Given the description of an element on the screen output the (x, y) to click on. 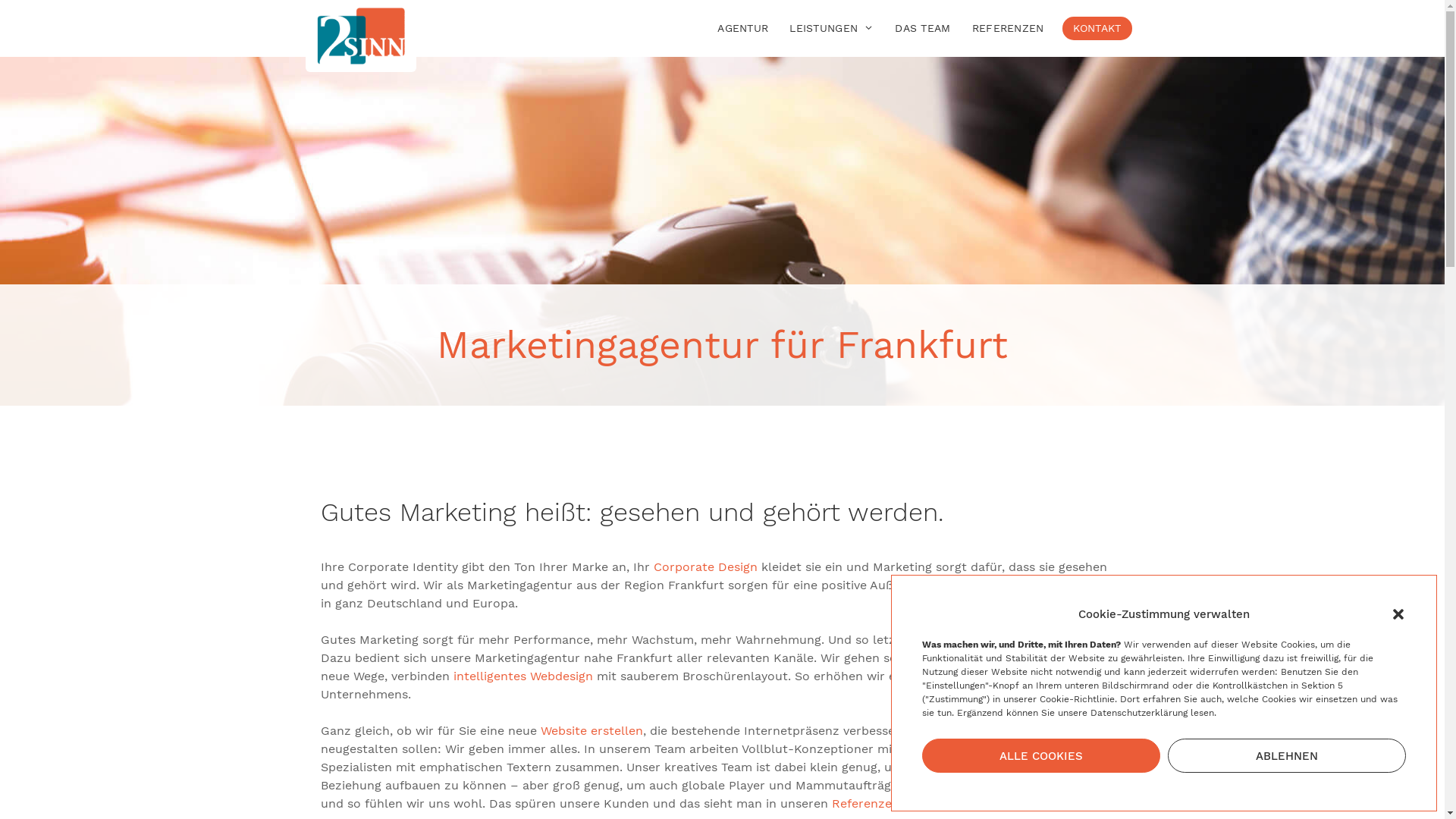
Corporate Design Element type: text (705, 566)
intelligentes Webdesign Element type: text (523, 675)
Referenzen Element type: text (864, 803)
Website erstellen Element type: text (590, 730)
LEISTUNGEN Element type: text (831, 28)
Cookie-Richtlinie Element type: text (1076, 698)
AGENTUR Element type: text (742, 28)
ABLEHNEN Element type: text (1286, 755)
ALLE COOKIES Element type: text (1041, 755)
DAS TEAM Element type: text (922, 28)
2SINN Element type: hover (360, 32)
REFERENZEN Element type: text (1007, 28)
KONTAKT Element type: text (1097, 28)
